Given the description of an element on the screen output the (x, y) to click on. 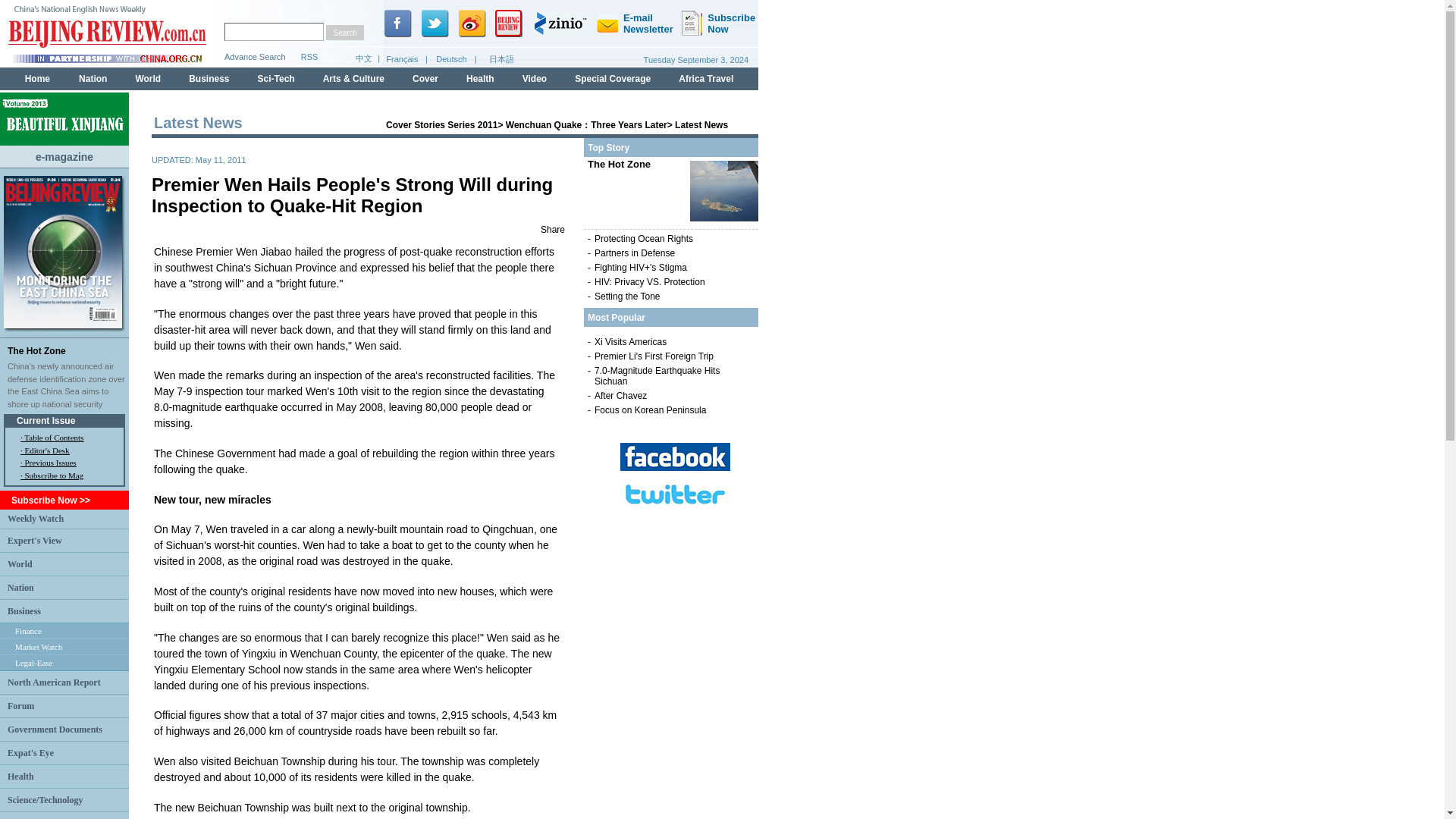
Health (20, 775)
Forum (20, 706)
Expat's Eye (30, 752)
Business (23, 610)
Expert's View (34, 540)
Table of Contents (53, 437)
Editor's Desk (46, 450)
Weekly Watch (35, 518)
Current Issue (45, 420)
Finance (28, 630)
